Given the description of an element on the screen output the (x, y) to click on. 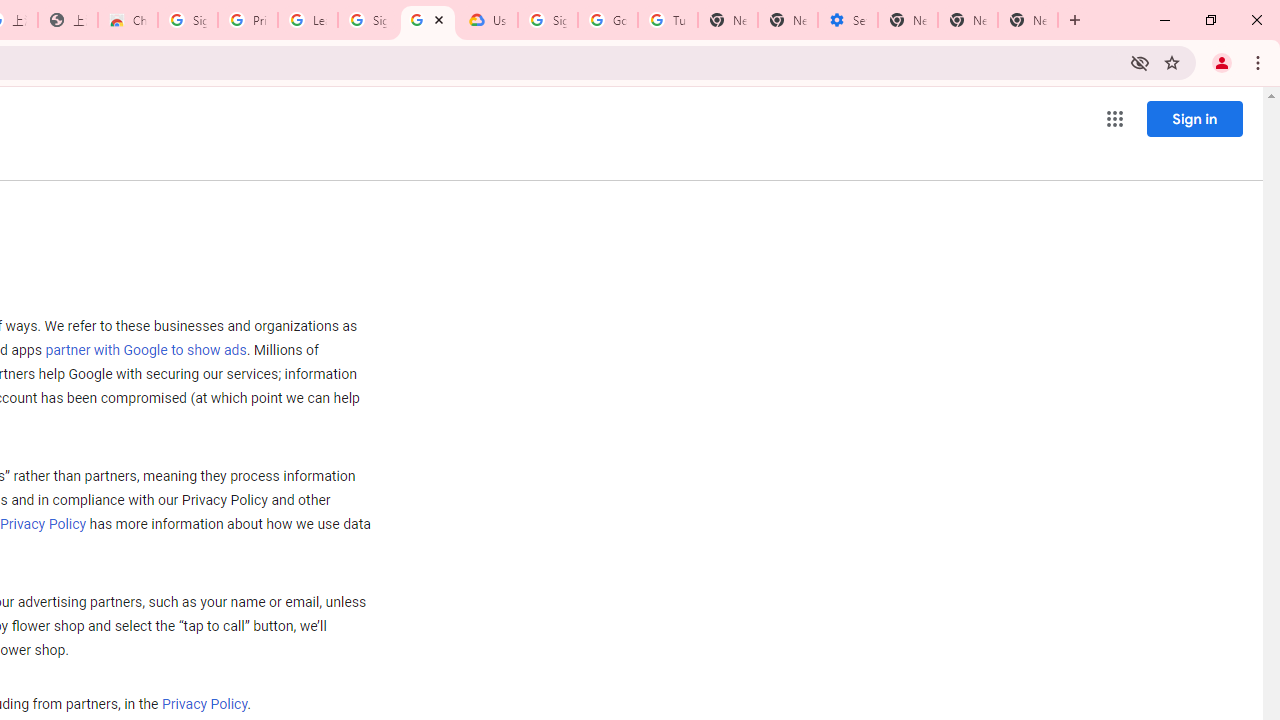
Sign in - Google Accounts (187, 20)
New Tab (1028, 20)
Settings - Addresses and more (847, 20)
Google Account Help (607, 20)
